Given the description of an element on the screen output the (x, y) to click on. 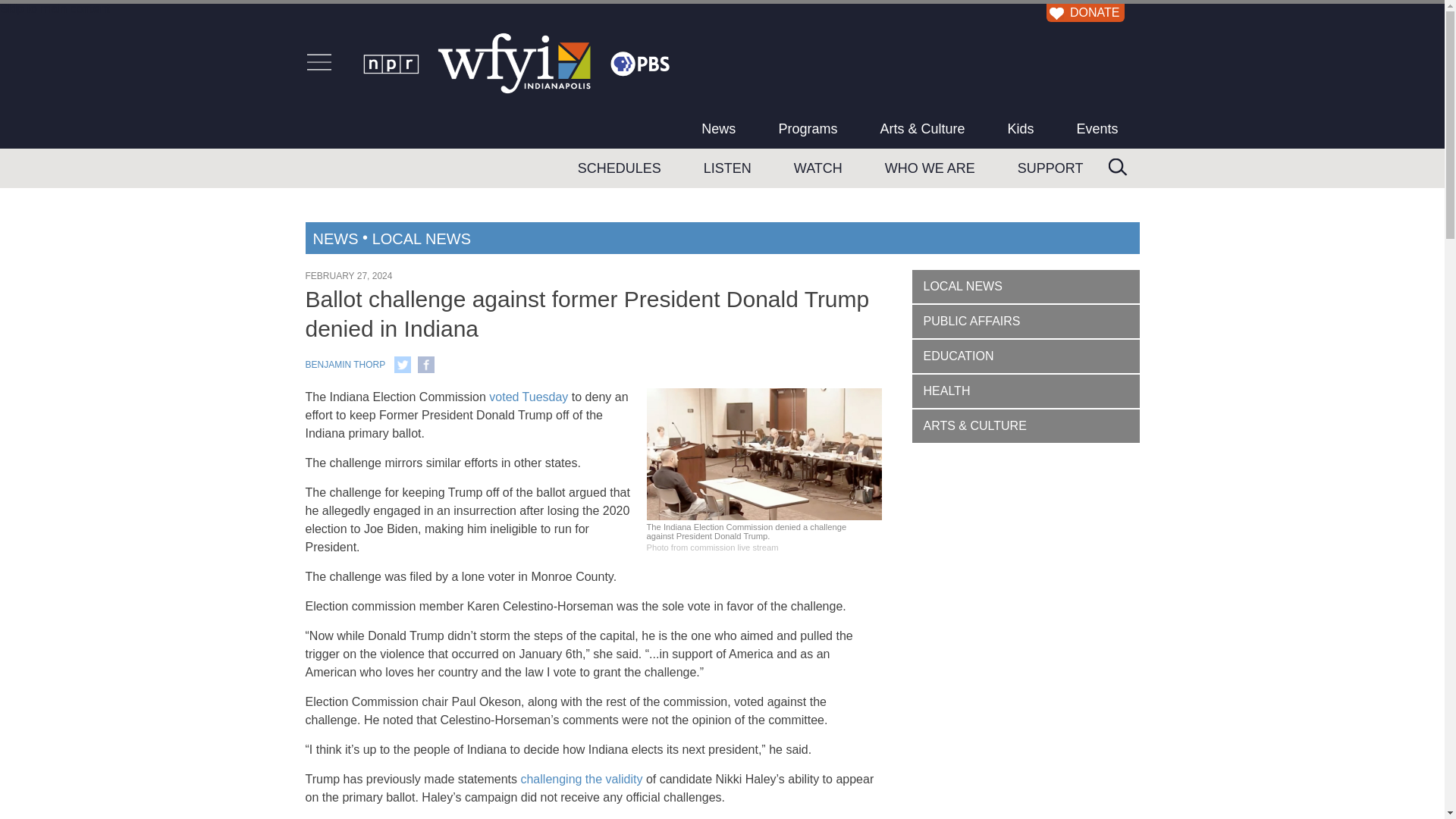
Kids (1019, 128)
voted Tuesday (528, 396)
Events (1096, 128)
challenging the validity (580, 779)
3rd party ad content (1024, 764)
LISTEN (727, 168)
Programs (808, 128)
NEWS (335, 238)
Skip to main content (55, 9)
3rd party ad content (1024, 573)
